Given the description of an element on the screen output the (x, y) to click on. 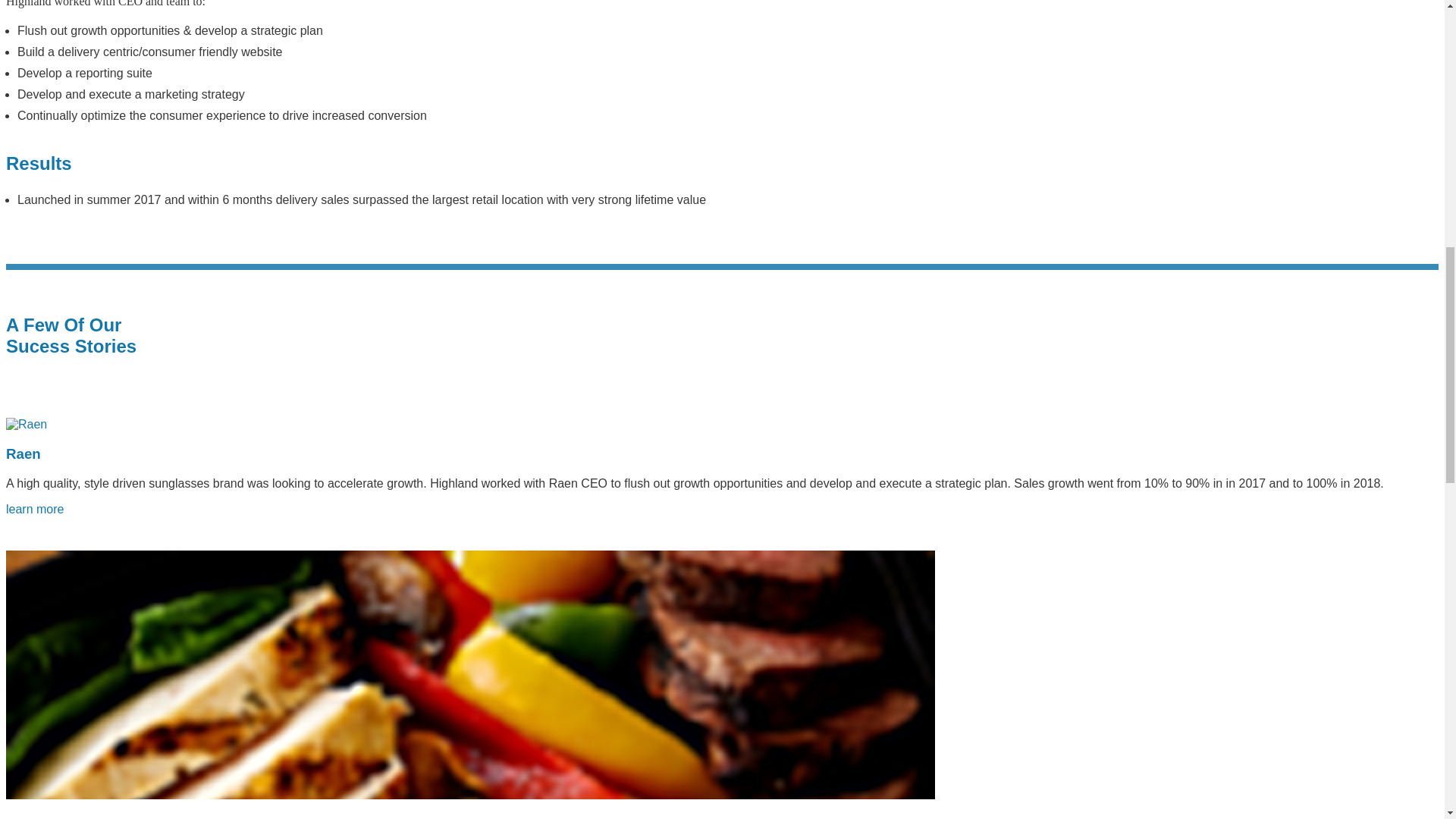
learn more (34, 508)
learn more (34, 508)
learn more (25, 423)
